Given the description of an element on the screen output the (x, y) to click on. 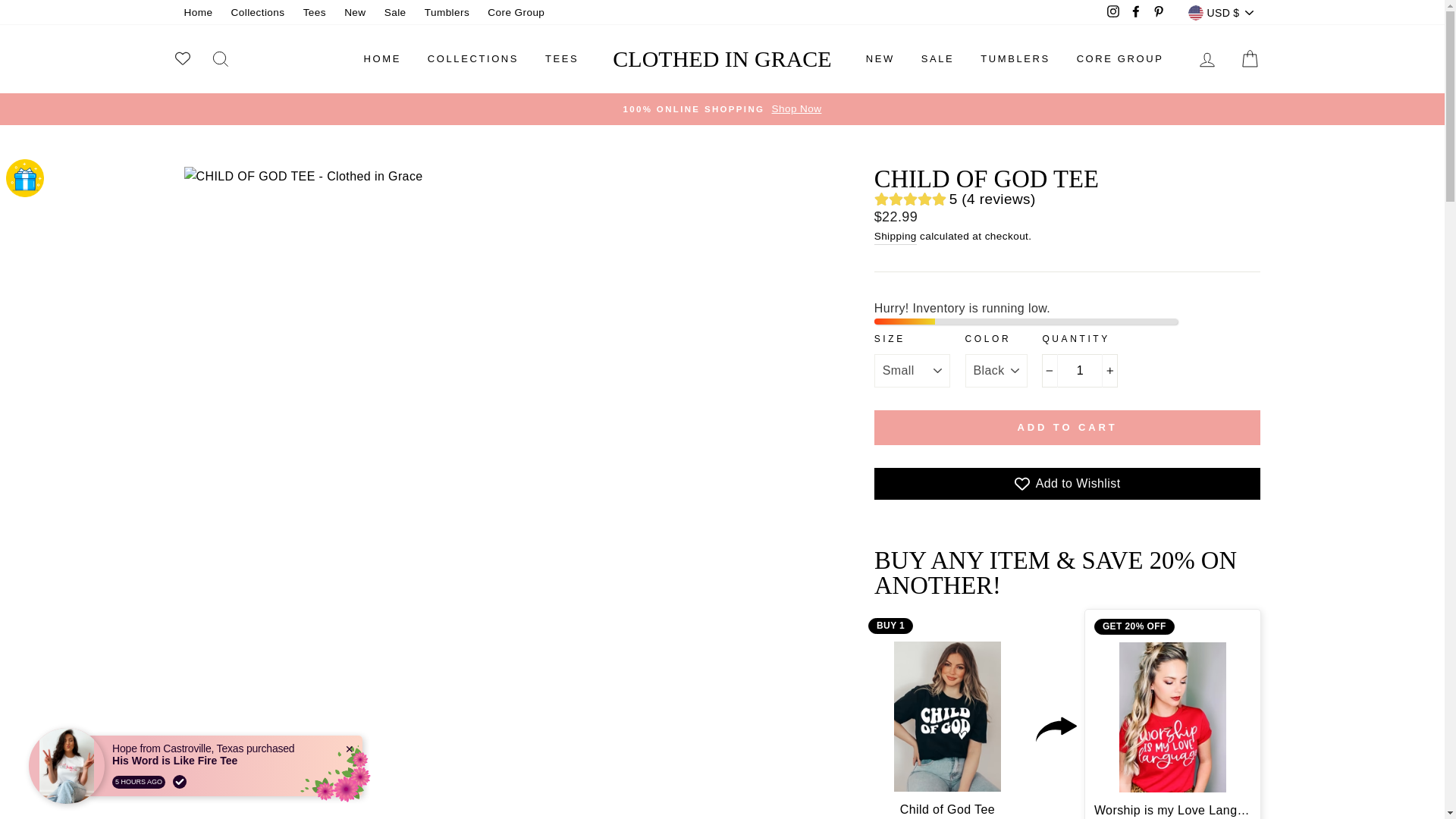
1 (1080, 370)
